Given the description of an element on the screen output the (x, y) to click on. 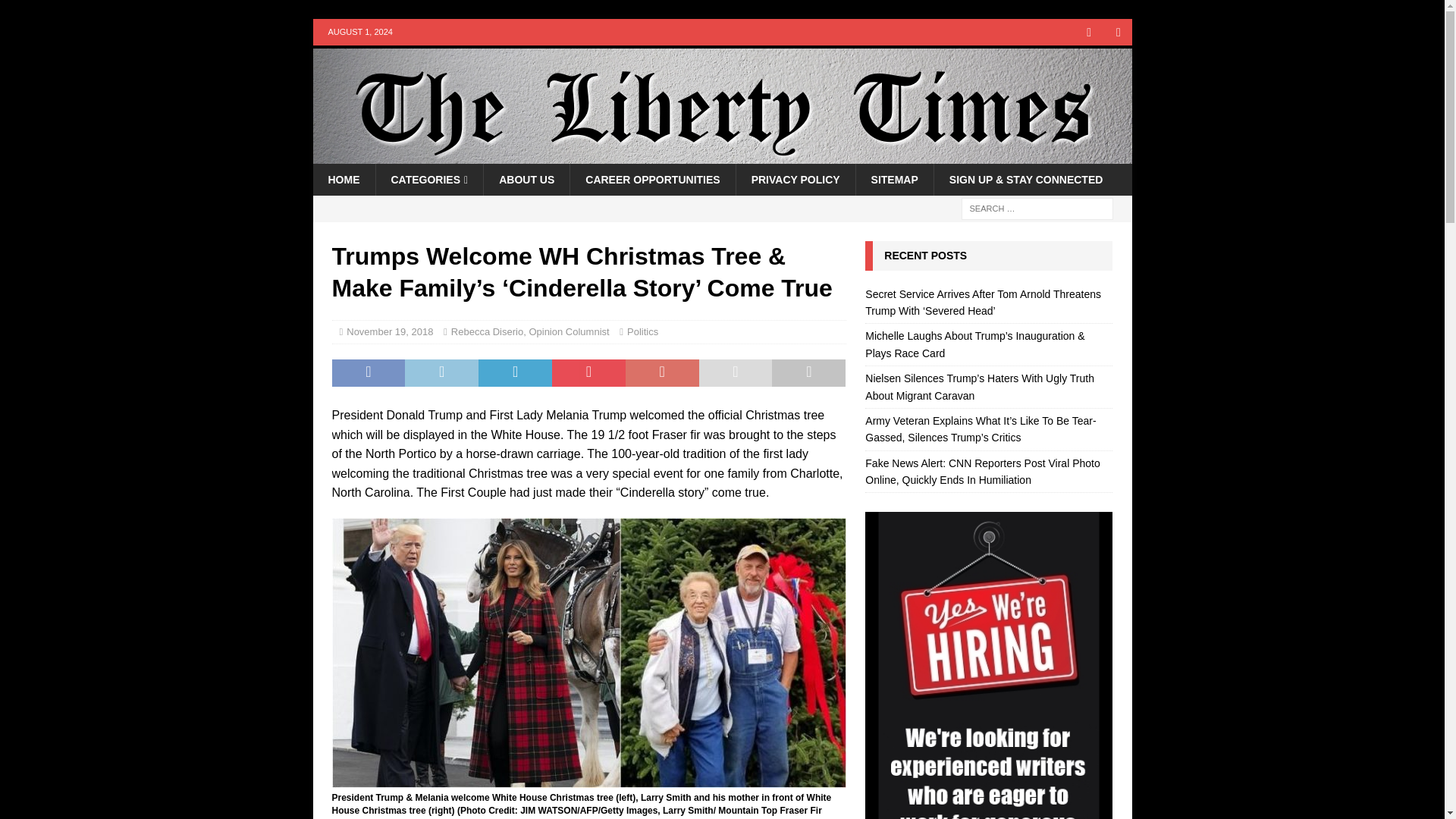
November 19, 2018 (389, 331)
SITEMAP (894, 179)
CAREER OPPORTUNITIES (652, 179)
Search (56, 11)
Politics (642, 331)
CATEGORIES (428, 179)
The Liberty Times (722, 155)
Rebecca Diserio, Opinion Columnist (530, 331)
ABOUT US (526, 179)
PRIVACY POLICY (795, 179)
